Given the description of an element on the screen output the (x, y) to click on. 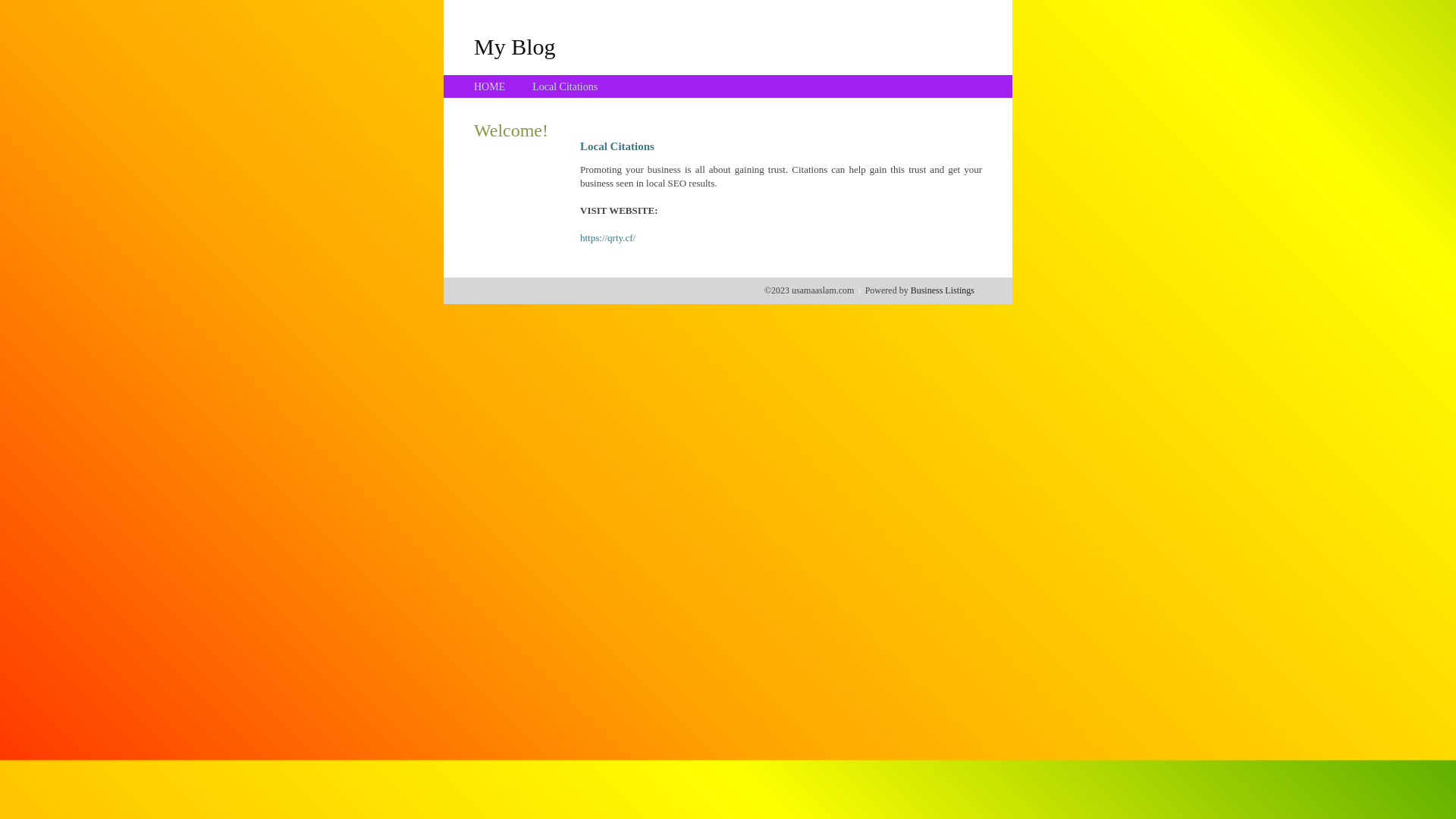
HOME Element type: text (489, 86)
Business Listings Element type: text (942, 290)
https://qrty.cf/ Element type: text (607, 237)
Local Citations Element type: text (564, 86)
My Blog Element type: text (514, 46)
